Given the description of an element on the screen output the (x, y) to click on. 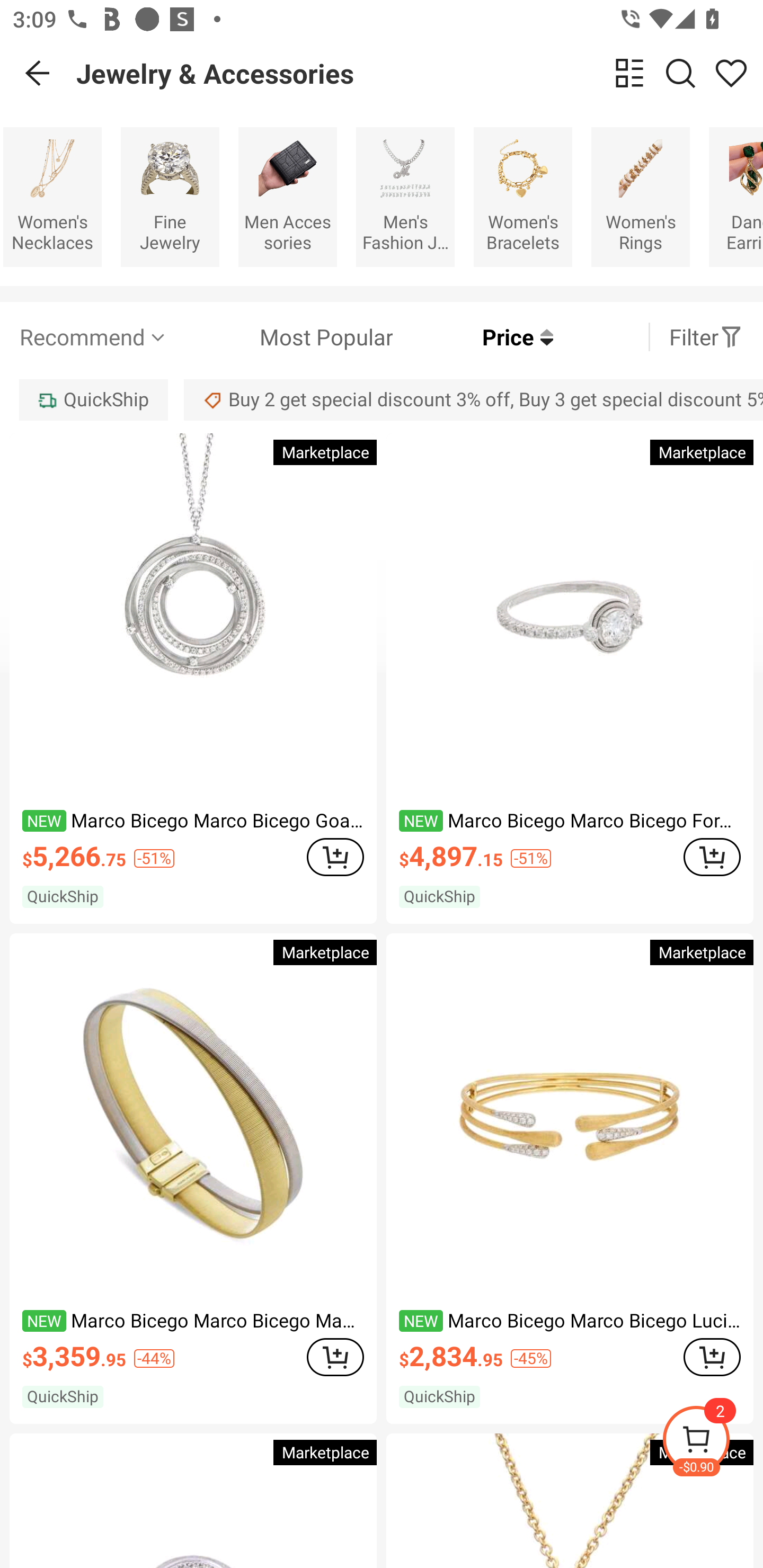
Jewelry & Accessories change view Search Share (419, 72)
change view (629, 72)
Search (679, 72)
Share (730, 72)
Women's Necklaces (52, 196)
Fine Jewelry (169, 196)
Men Accessories (287, 196)
Men's Fashion Jewelry (405, 196)
Women's Bracelets (522, 196)
Women's Rings (640, 196)
Recommend (93, 336)
Most Popular (280, 336)
Price (472, 336)
Filter (705, 336)
QuickShip (93, 399)
ADD TO CART (334, 856)
ADD TO CART (711, 856)
ADD TO CART (334, 1356)
ADD TO CART (711, 1356)
-$0.90 (712, 1441)
